Given the description of an element on the screen output the (x, y) to click on. 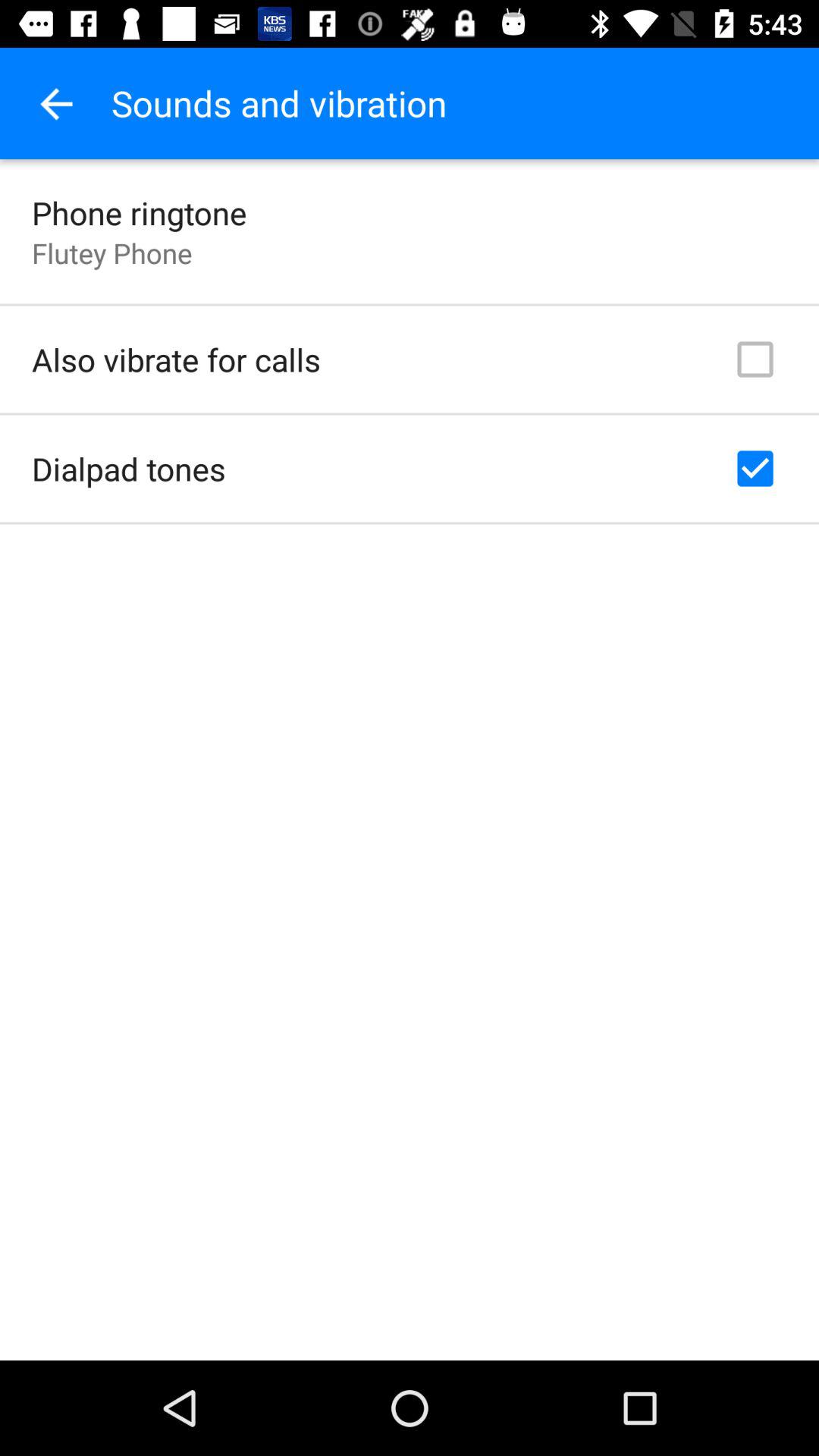
open the item below the also vibrate for (128, 468)
